Given the description of an element on the screen output the (x, y) to click on. 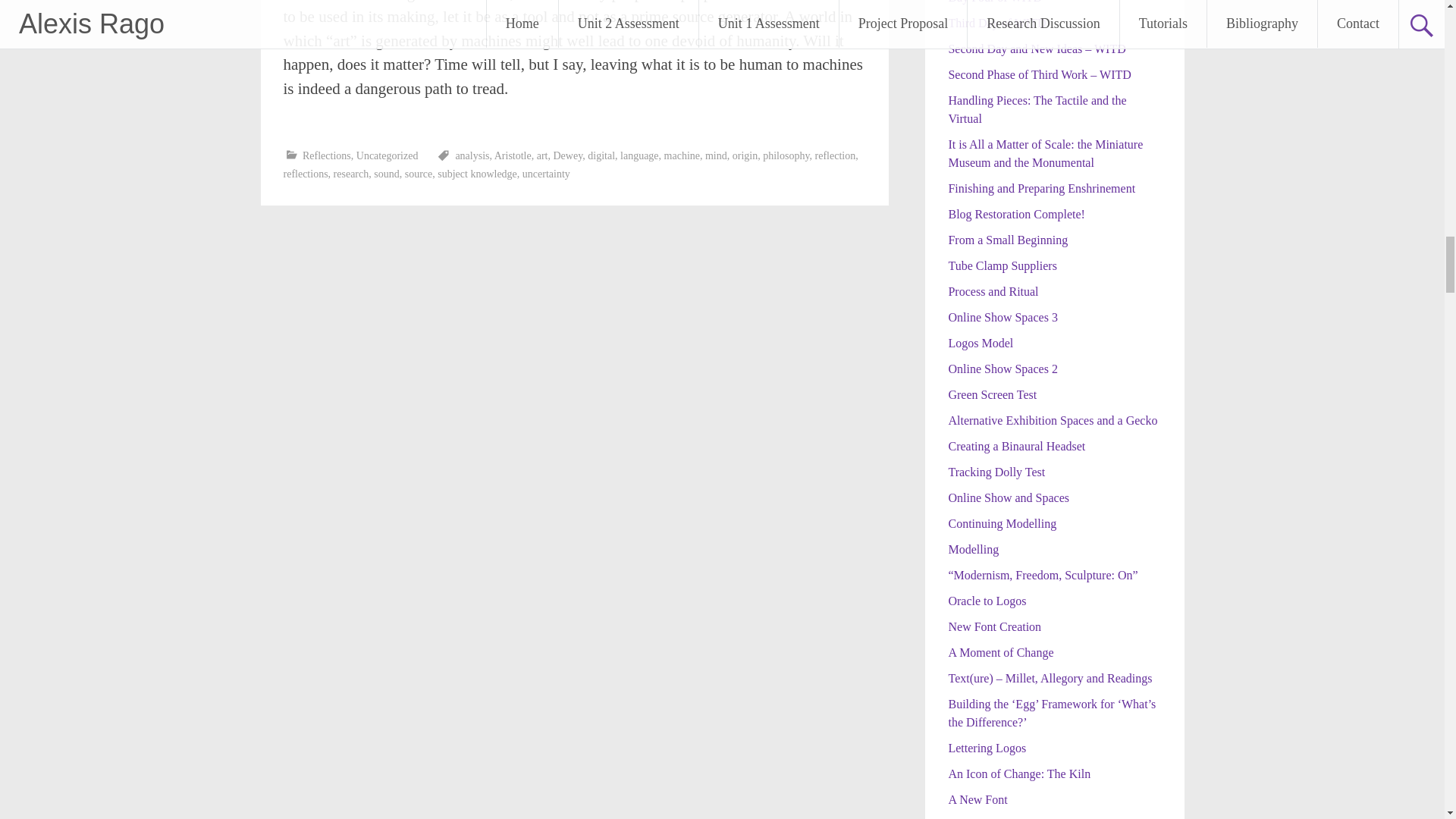
mind (715, 155)
subject knowledge (477, 173)
Uncategorized (387, 155)
analysis (471, 155)
philosophy (785, 155)
language (639, 155)
reflection (835, 155)
research (351, 173)
sound (386, 173)
uncertainty (546, 173)
Reflections (326, 155)
machine (681, 155)
source (418, 173)
digital (601, 155)
reflections (306, 173)
